Given the description of an element on the screen output the (x, y) to click on. 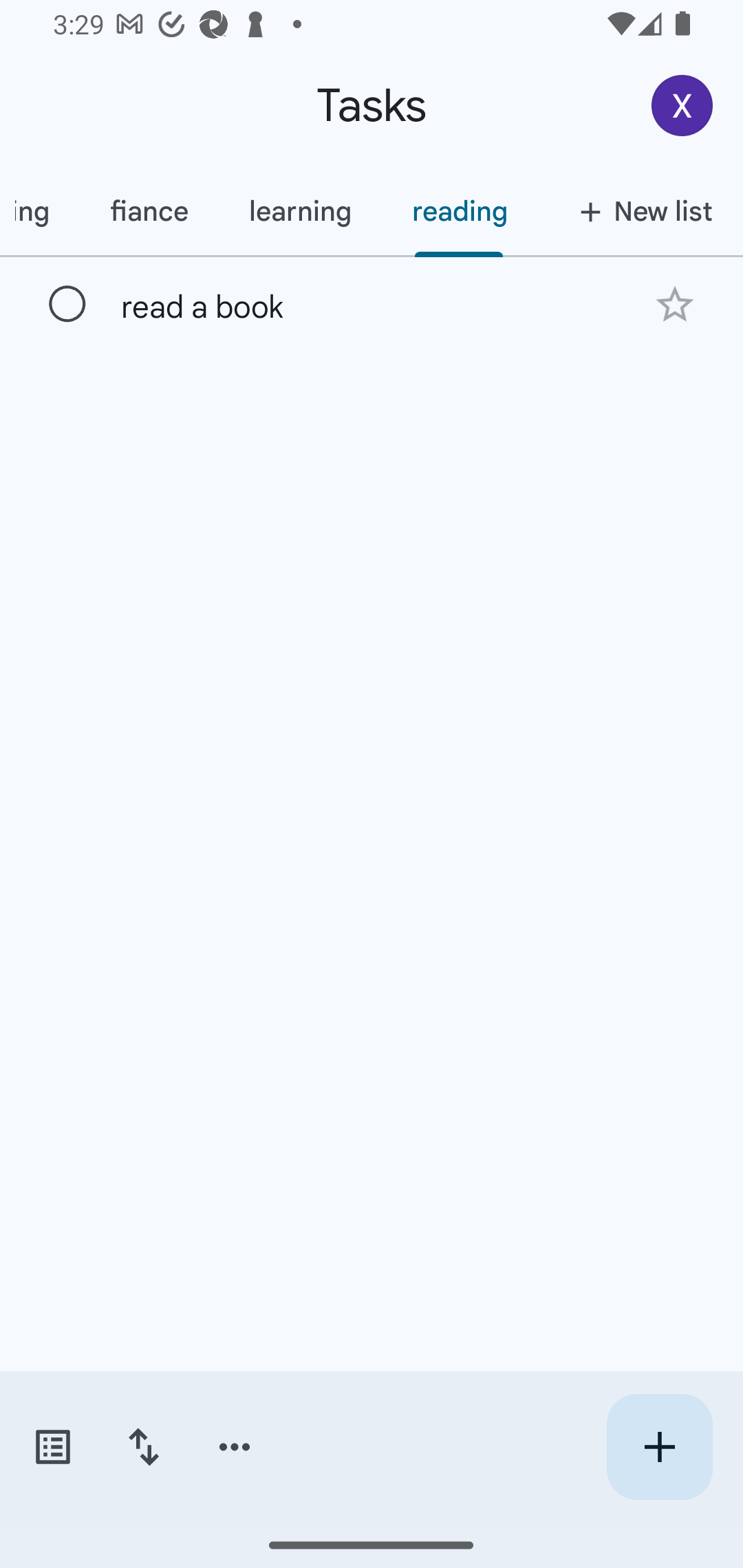
fiance (148, 211)
learning (299, 211)
New list (640, 211)
read a book read a book Add star Mark as complete (371, 303)
Add star (674, 303)
Mark as complete (67, 304)
Switch task lists (52, 1447)
Create new task (659, 1446)
Change sort order (143, 1446)
More options (234, 1446)
